Given the description of an element on the screen output the (x, y) to click on. 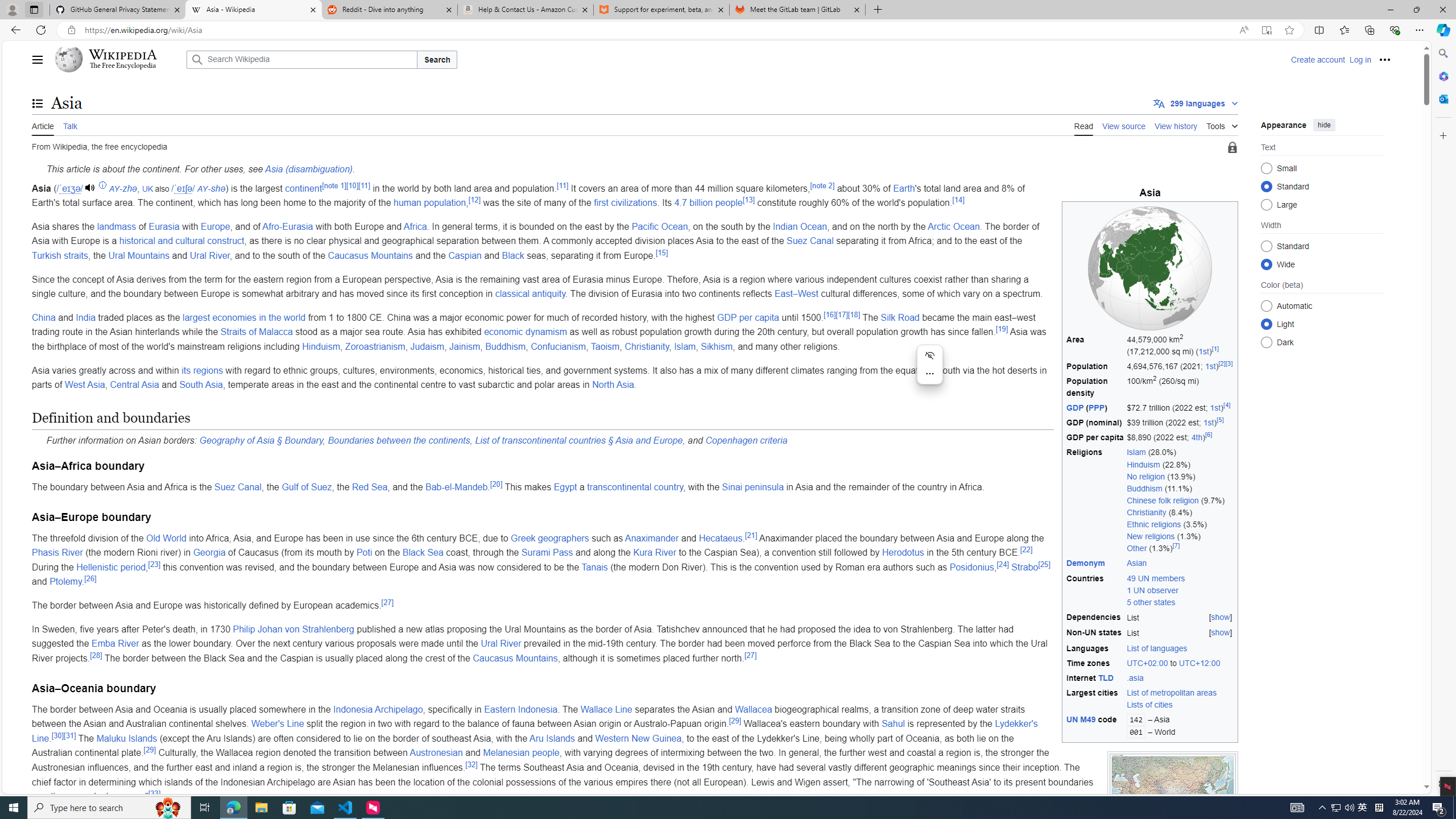
transcontinental country (635, 486)
Christianity (8.4%) (1180, 512)
[30] (57, 734)
UN M49 (1080, 719)
North Asia (613, 384)
View history (1176, 124)
Log in (1360, 58)
Afro-Eurasia (287, 226)
Taoism (604, 346)
Ethnic religions (3.5%) (1180, 524)
The Free Encyclopedia (121, 65)
Hide menu (929, 355)
List of languages (1157, 647)
